Given the description of an element on the screen output the (x, y) to click on. 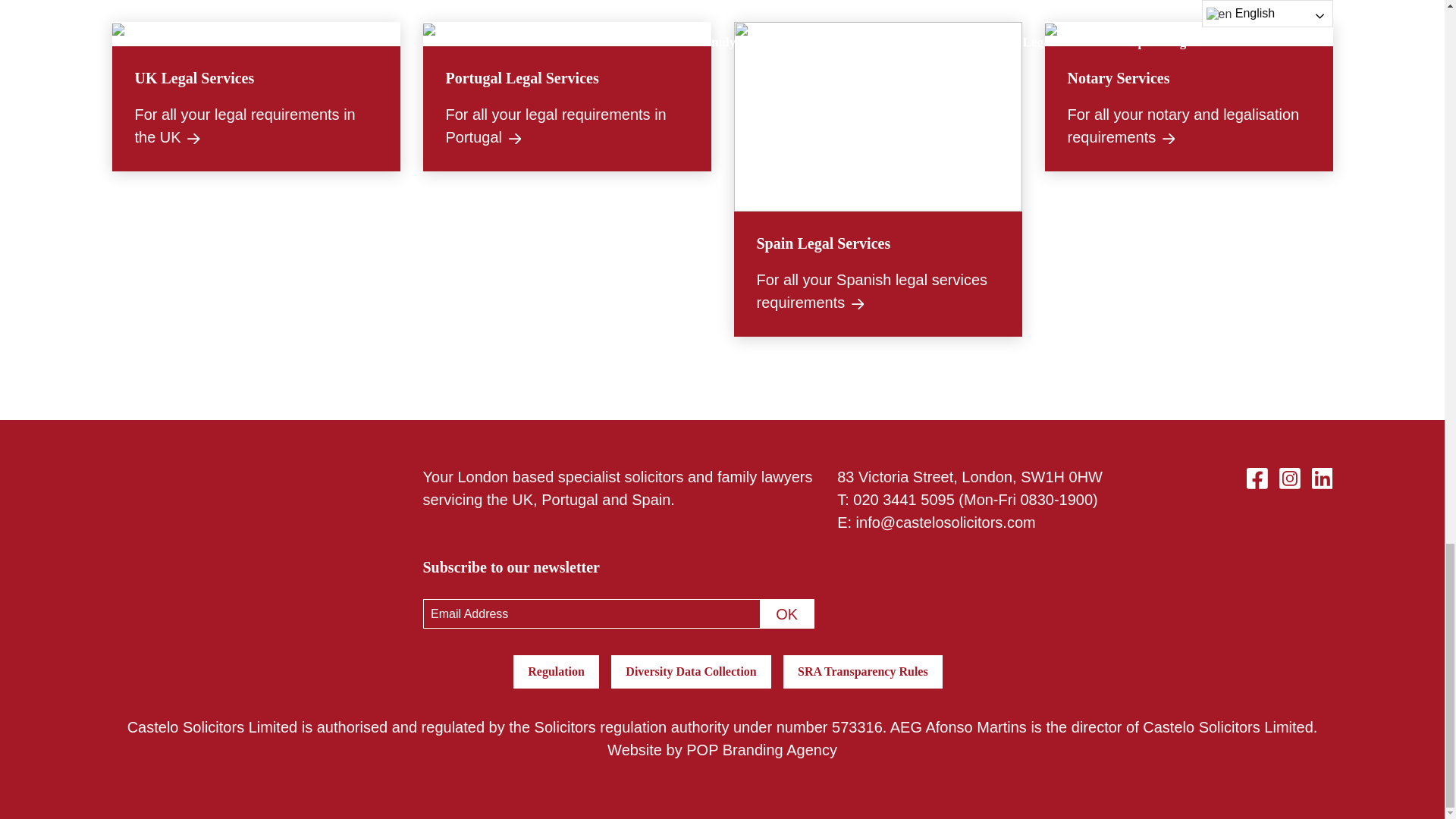
Email us (903, 499)
Facebook (1257, 476)
Instagram (1289, 476)
POP Branding Agency (761, 750)
Email us (945, 522)
LinkedIn (1322, 476)
